Given the description of an element on the screen output the (x, y) to click on. 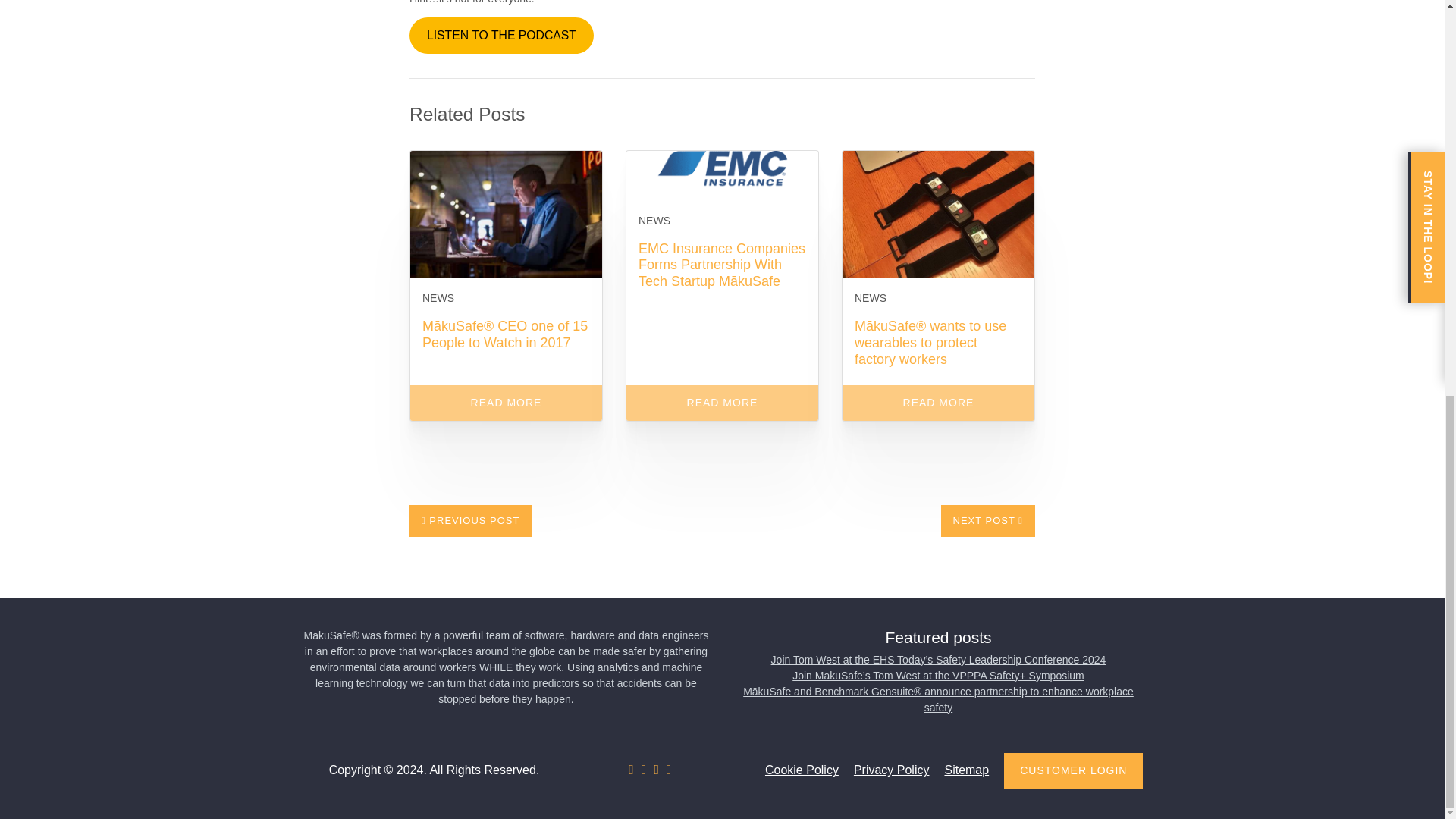
PREVIOUS POST (470, 521)
NEXT POST (987, 521)
READ MORE (938, 402)
READ MORE (722, 402)
LISTEN TO THE PODCAST (501, 35)
READ MORE (506, 402)
